Given the description of an element on the screen output the (x, y) to click on. 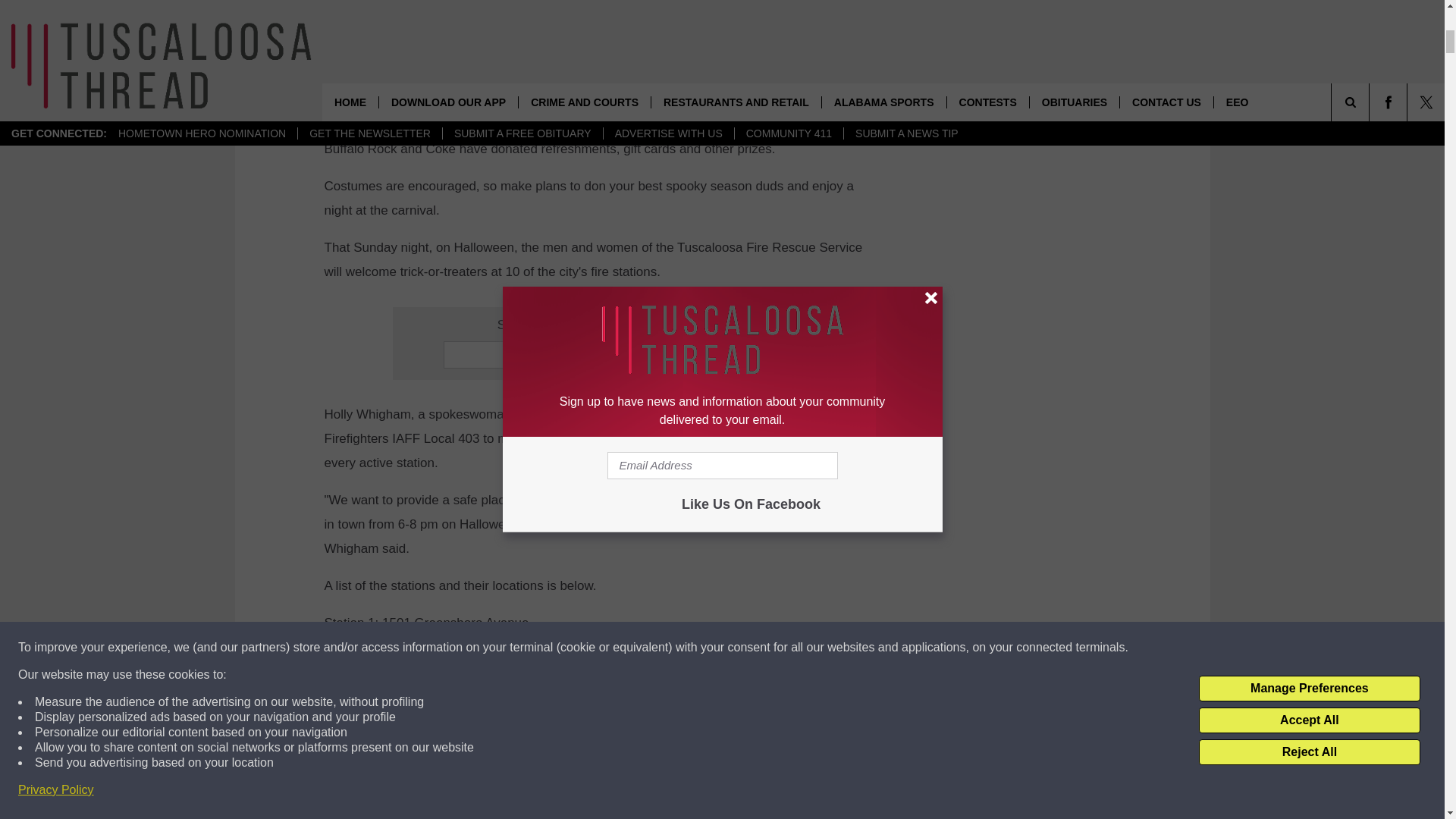
Email Address (600, 354)
